Given the description of an element on the screen output the (x, y) to click on. 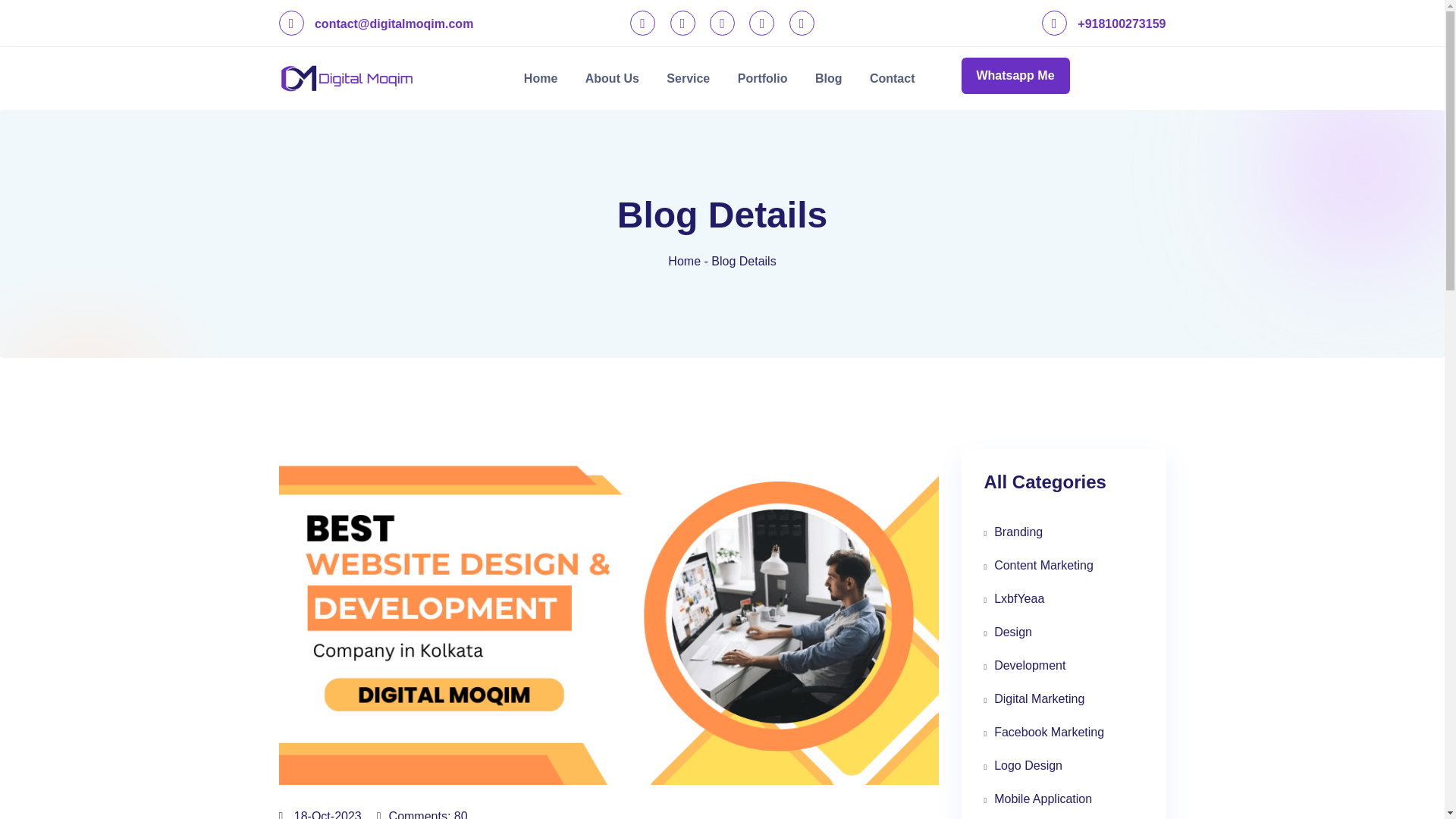
About Us (611, 77)
Branding (1063, 531)
LxbfYeaa (1063, 598)
Mobile Application (1063, 798)
Whatsapp Me (1015, 75)
Portfolio (762, 77)
Digital Marketing (1063, 698)
Service (687, 77)
Contact (892, 77)
18-Oct-2023 (320, 814)
Home (540, 77)
Design (1063, 632)
Home - (687, 260)
Logo Design (1063, 765)
Development (1063, 665)
